Given the description of an element on the screen output the (x, y) to click on. 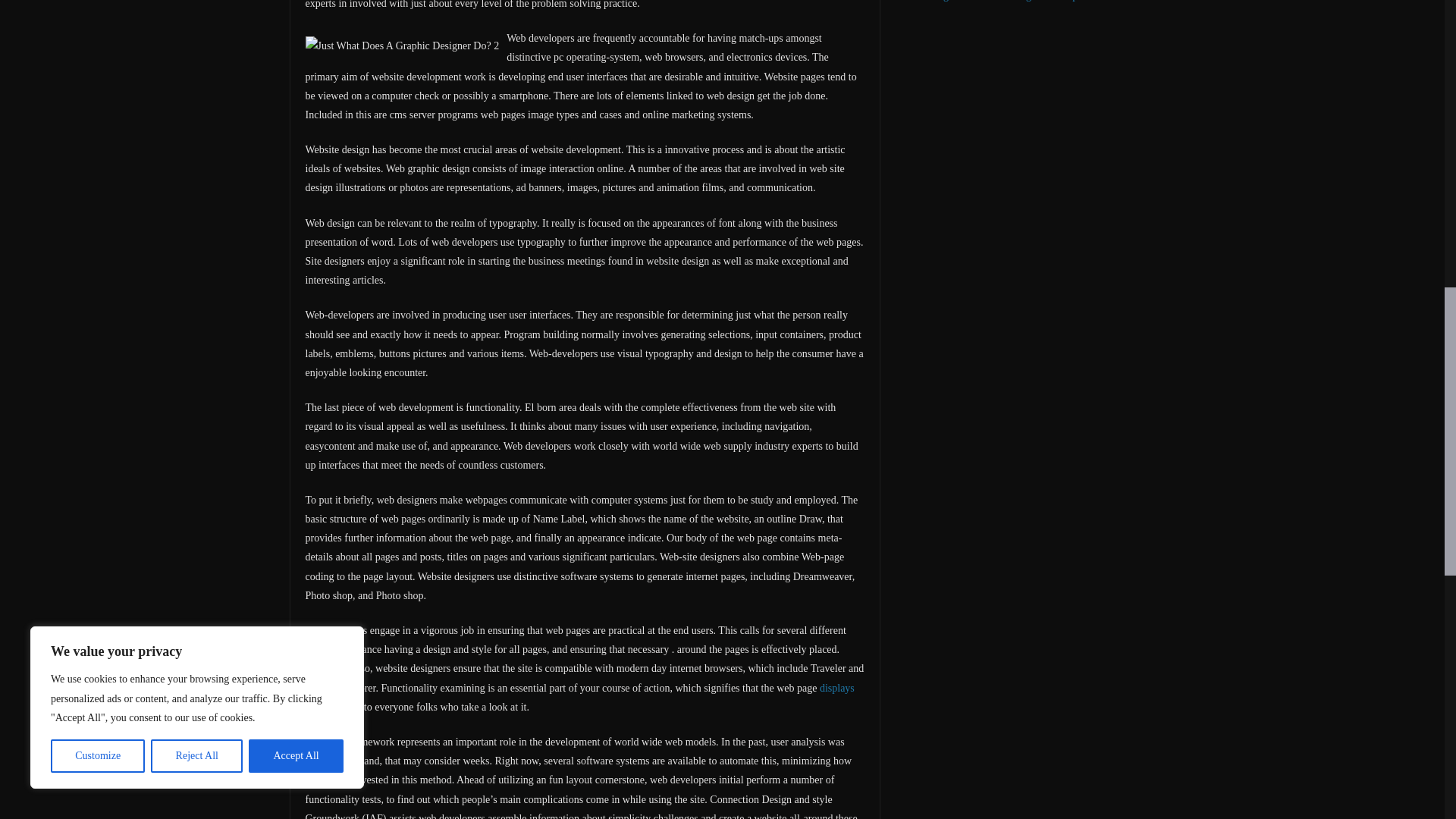
displays (836, 687)
